Given the description of an element on the screen output the (x, y) to click on. 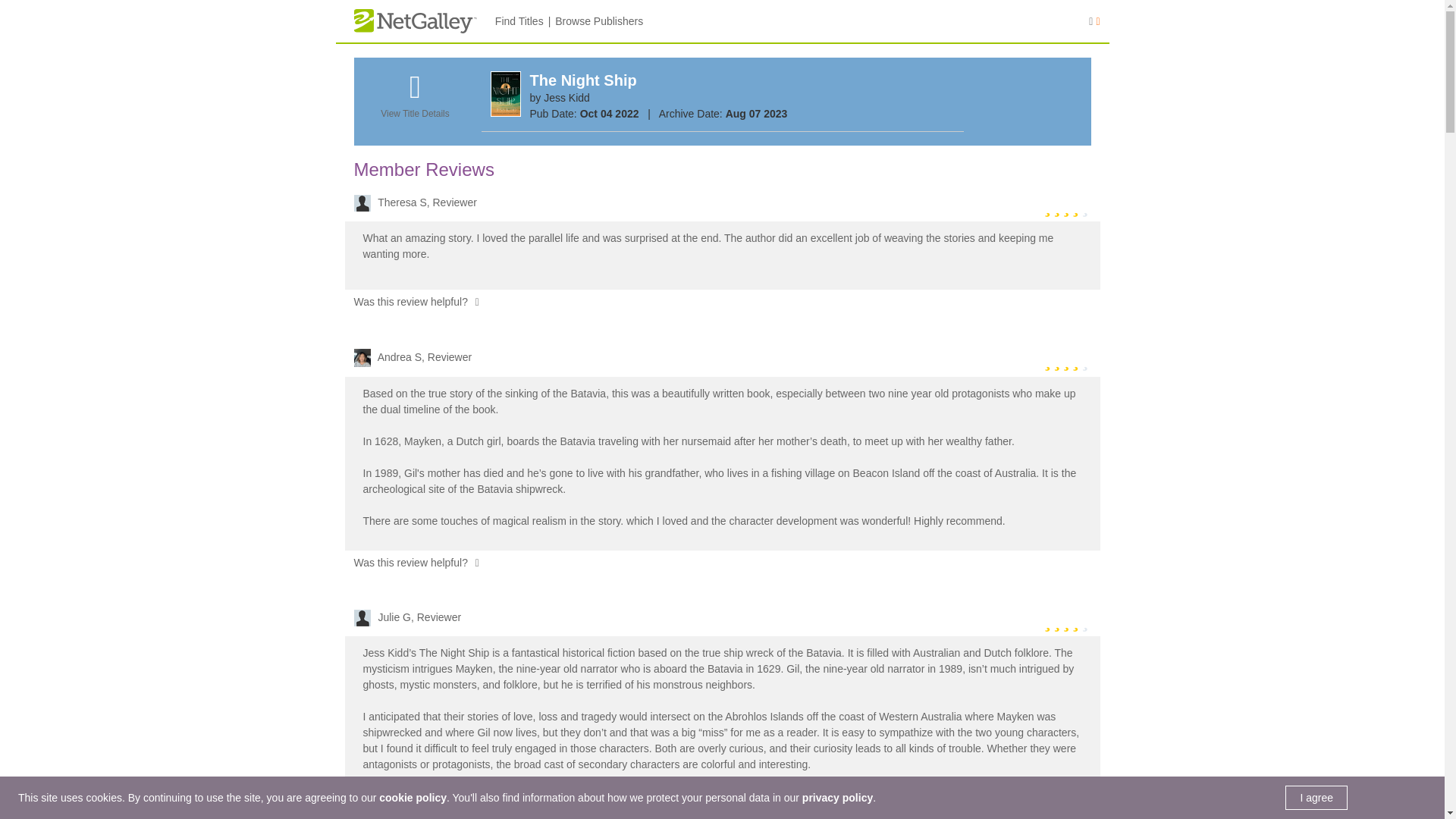
View Title Details (414, 104)
Browse Publishers (598, 21)
The Night Ship (582, 80)
Find Titles (519, 21)
